Given the description of an element on the screen output the (x, y) to click on. 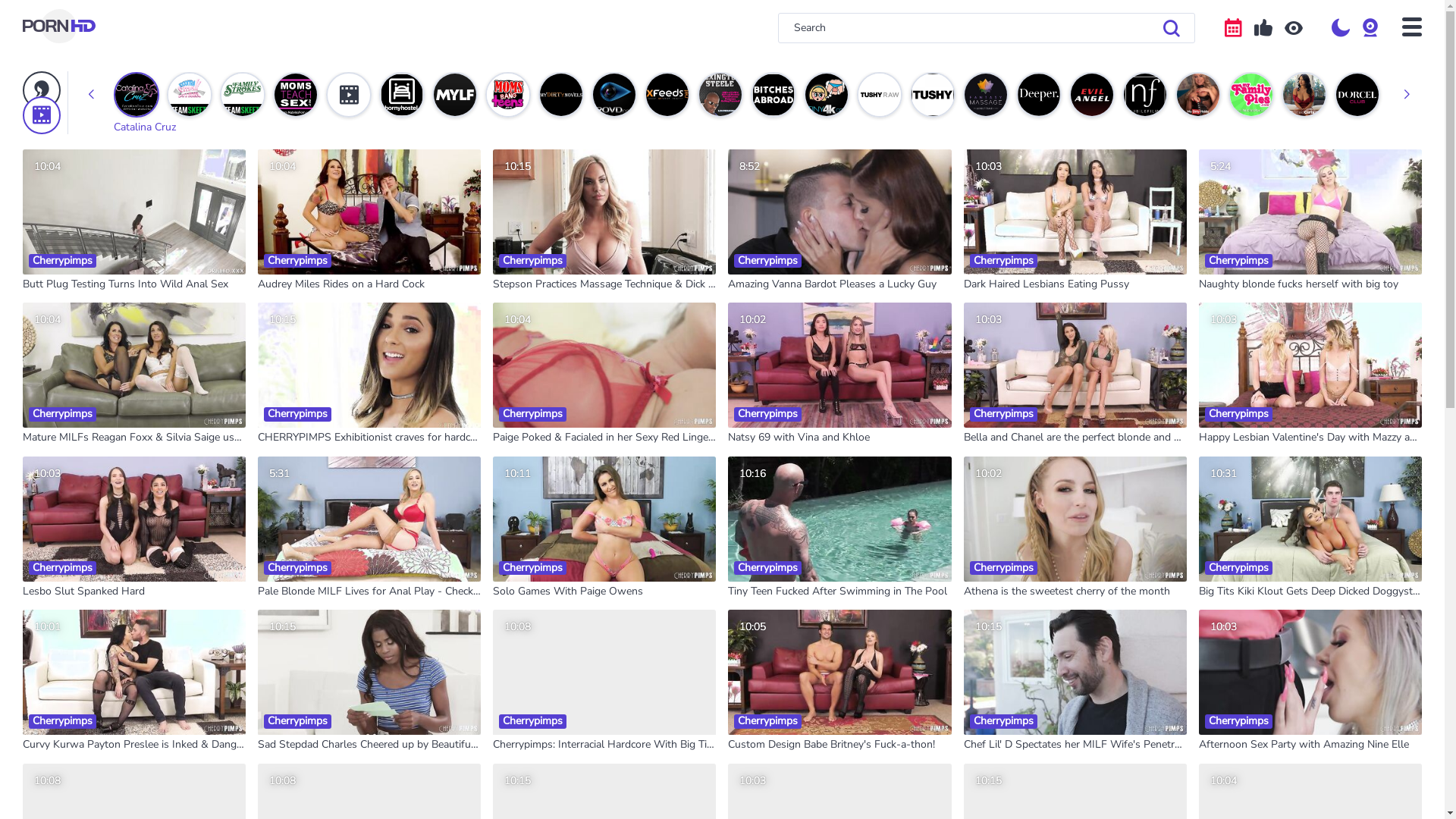
Tushy Raw Element type: hover (879, 94)
10:31 Element type: text (1309, 518)
Catalina Cruz Element type: text (136, 94)
My Dirty Hobby Element type: hover (1197, 94)
Exxxtra Small Element type: hover (189, 94)
Cherrypimps Element type: text (284, 243)
Cherrypimps Element type: text (754, 550)
Cherrypimps Element type: text (1225, 243)
10:05 Element type: text (839, 671)
Mature MILFs Reagan Foxx & Silvia Saige use Sybian Element type: text (133, 437)
Family Strokes Element type: hover (242, 94)
Moms Bang Teens Element type: hover (507, 94)
Nubile Films Element type: hover (1144, 94)
Natsy 69 with Vina and Khloe Element type: text (798, 437)
10:11 Element type: text (603, 518)
Cherrypimps Element type: text (990, 550)
Cherrypimps Element type: text (990, 704)
Butt Plug Testing Turns Into Wild Anal Sex Element type: text (125, 284)
POVD Element type: hover (614, 94)
Cherrypimps Element type: text (1225, 550)
5:24 Element type: text (1309, 211)
Cherrypimps Element type: text (284, 397)
Solo Games With Paige Owens Element type: text (567, 591)
Cherrypimps Element type: text (284, 704)
10:15 Element type: text (368, 671)
Cherrypimps Element type: text (1225, 704)
10:03 Element type: text (1309, 671)
Naughty blonde fucks herself with big toy Element type: text (1298, 284)
Tiny 4K Element type: hover (826, 94)
Cherrypimps Element type: text (49, 550)
10:04 Element type: text (133, 211)
Amazing Vanna Bardot Pleases a Lucky Guy Element type: text (832, 284)
Cherrypimps Element type: text (49, 243)
Pale Blonde MILF Lives for Anal Play - Check her out! Element type: text (368, 591)
Moms Teach Sex Element type: hover (295, 94)
10:01 Element type: text (133, 671)
10:02 Element type: text (839, 364)
Tushy Element type: hover (932, 94)
Dark Haired Lesbians Eating Pussy Element type: text (1046, 284)
10:15 Element type: text (603, 211)
Cherrypimps Element type: text (519, 243)
Chef Lil' D Spectates her MILF Wife's Penetration Element type: text (1074, 744)
10:02 Element type: text (1074, 518)
Athena is the sweetest cherry of the month Element type: text (1066, 591)
Bitches Abroad Element type: hover (773, 94)
10:08 Element type: text (603, 671)
Fantasy Massage Element type: hover (985, 94)
Paige Poked & Facialed in her Sexy Red Lingerie Element type: text (603, 437)
Deeper Element type: hover (1038, 94)
10:04 Element type: text (603, 364)
10:03 Element type: text (1074, 364)
Cherrypimps Element type: text (1225, 397)
Bella and Chanel are the perfect blonde and brunette pair Element type: text (1074, 437)
10:03 Element type: text (1309, 364)
Cherrypimps Element type: text (754, 243)
Cherrypimps Element type: text (990, 397)
Afternoon Sex Party with Amazing Nine Elle Element type: text (1303, 744)
MYLF Element type: hover (454, 94)
10:15 Element type: text (1074, 671)
XFeeds Element type: hover (667, 94)
5:31 Element type: text (368, 518)
Curvy Kurwa Payton Preslee is Inked & Dangerous! Element type: text (133, 744)
Cherrypimps Element type: text (519, 397)
Custom Design Babe Britney's Fuck-a-thon! Element type: text (831, 744)
Sad Stepdad Charles Cheered up by Beautiful Black Chick Element type: text (368, 744)
8:52 Element type: text (839, 211)
My Family Pies Element type: hover (1251, 94)
Lesbo Slut Spanked Hard Element type: text (83, 591)
10:03 Element type: text (133, 518)
Audrey Miles Rides on a Hard Cock Element type: text (340, 284)
10:16 Element type: text (839, 518)
Amateur X Element type: hover (348, 94)
Cherrypimps Element type: text (990, 243)
10:15 Element type: text (368, 364)
Cherrypimps Element type: text (754, 704)
Licensed To Blow Element type: hover (1410, 94)
Stepson Practices Massage Technique & Dick Givin' Element type: text (603, 284)
10:04 Element type: text (133, 364)
Tiny Teen Fucked After Swimming in The Pool Element type: text (837, 591)
Cherrypimps Element type: text (754, 397)
Cherrypimps Element type: text (49, 397)
Cherrypimps Element type: text (519, 704)
CHERRYPIMPS Exhibitionist craves for hardcore anal Element type: text (368, 437)
Evil Angel Element type: hover (1091, 94)
Happy Lesbian Valentine's Day with Mazzy and Nella Element type: text (1309, 437)
Net Video Girls Element type: hover (1304, 94)
Cherrypimps Element type: text (519, 550)
10:03 Element type: text (1074, 211)
Horny Hostel Element type: hover (401, 94)
Dorcel Club Element type: hover (1357, 94)
Lex Steele XXX Element type: hover (720, 94)
Cherrypimps Element type: text (49, 704)
Cherrypimps Element type: text (284, 550)
My Dirty Novels Element type: hover (560, 94)
10:04 Element type: text (368, 211)
